Given the description of an element on the screen output the (x, y) to click on. 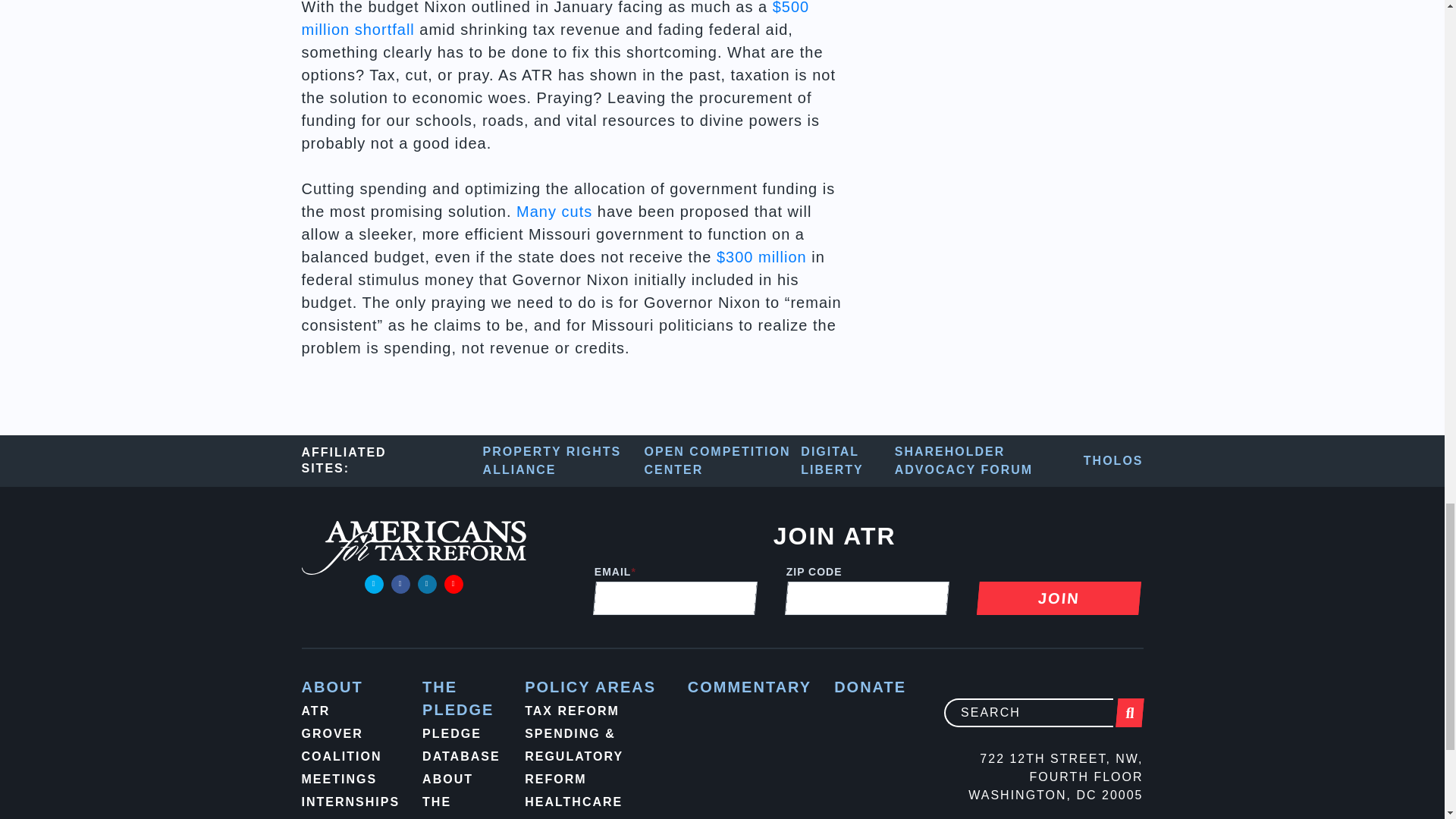
Join (1057, 598)
